Given the description of an element on the screen output the (x, y) to click on. 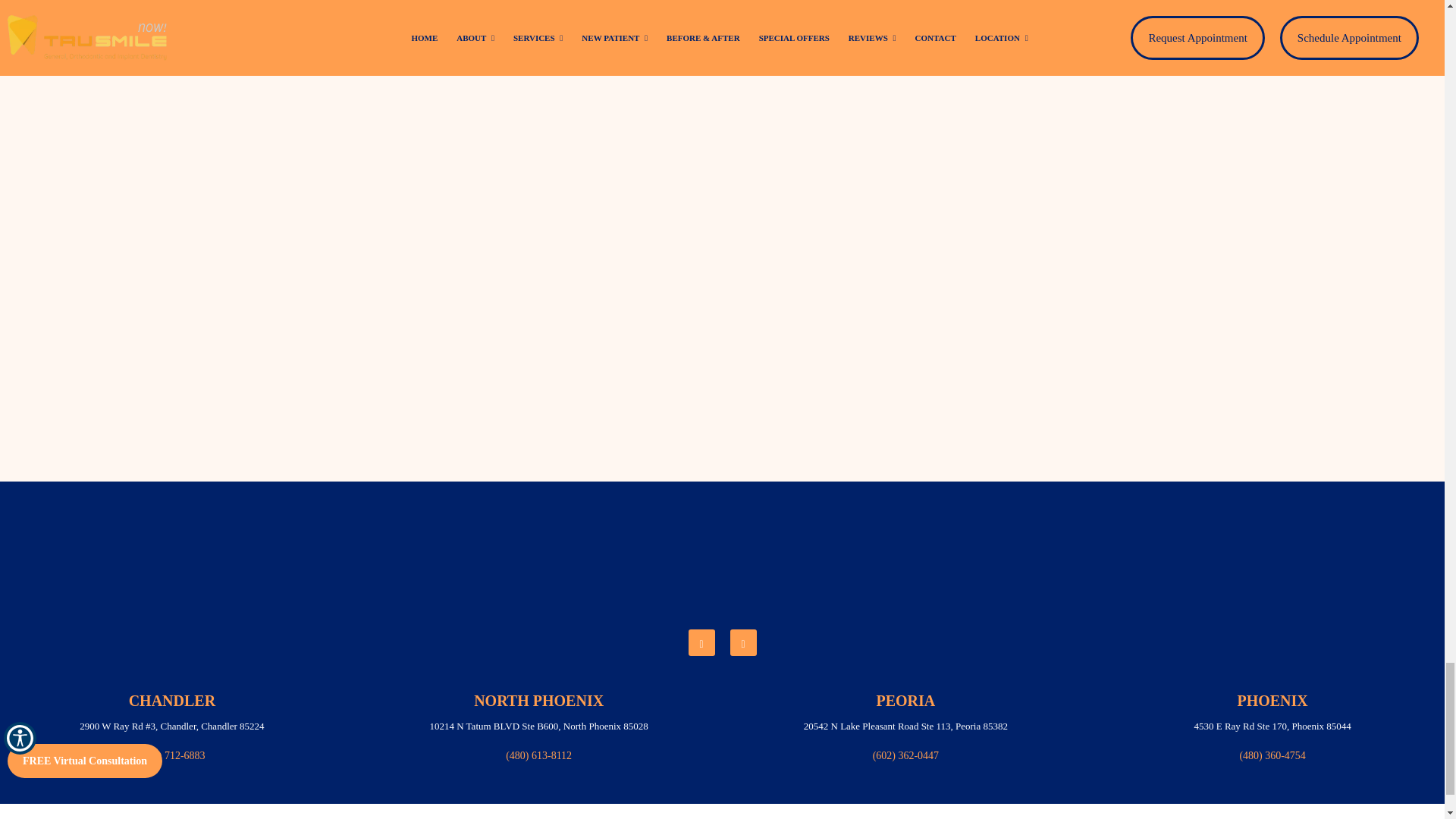
Logo (721, 557)
